Given the description of an element on the screen output the (x, y) to click on. 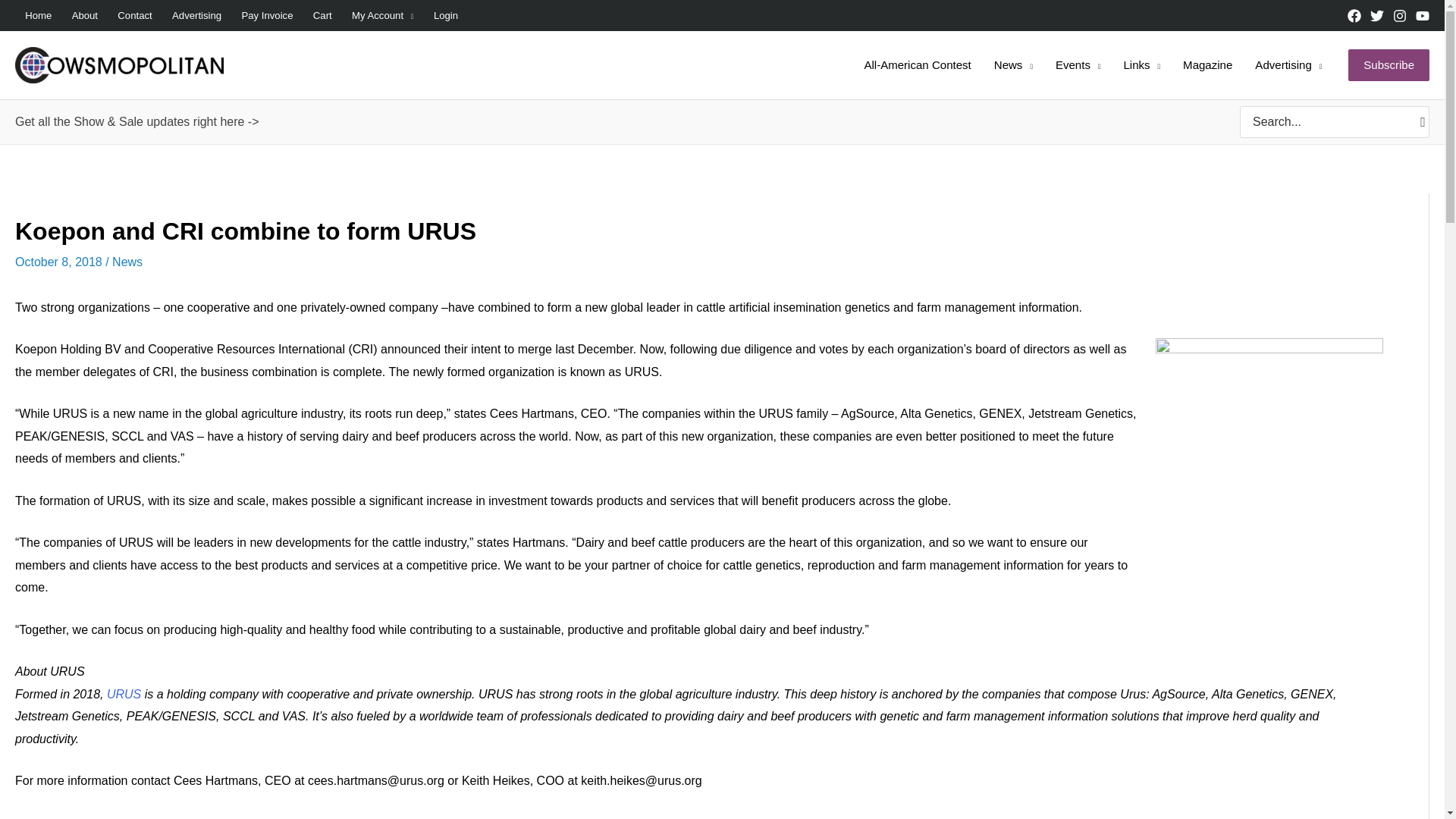
All-American Contest (916, 65)
Contact (134, 15)
Advertising (1288, 65)
Home (37, 15)
Pay Invoice (266, 15)
Advertising (196, 15)
About (84, 15)
Magazine (1207, 65)
Cart (322, 15)
News (1012, 65)
Subscribe (1388, 65)
Events (1077, 65)
My Account (382, 15)
Login (445, 15)
